Given the description of an element on the screen output the (x, y) to click on. 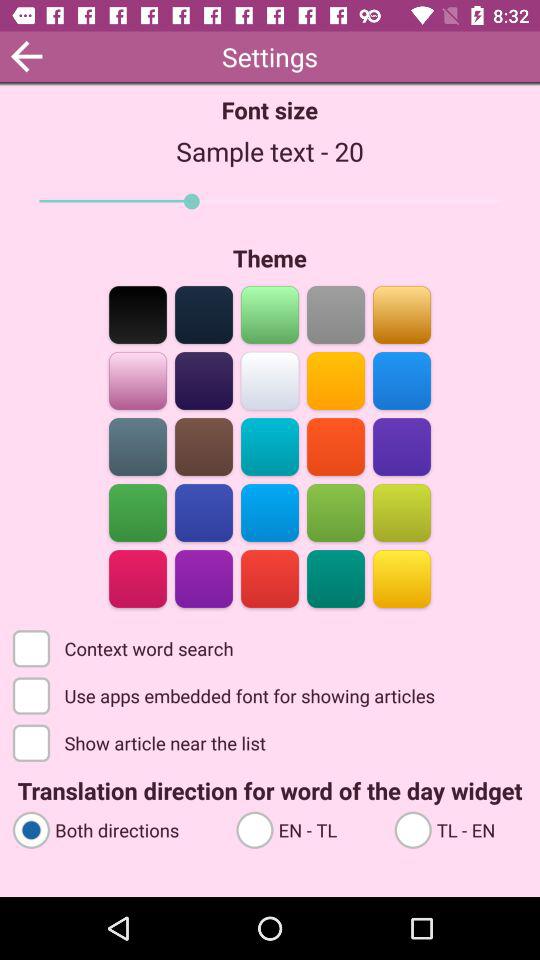
theme color option (401, 511)
